Given the description of an element on the screen output the (x, y) to click on. 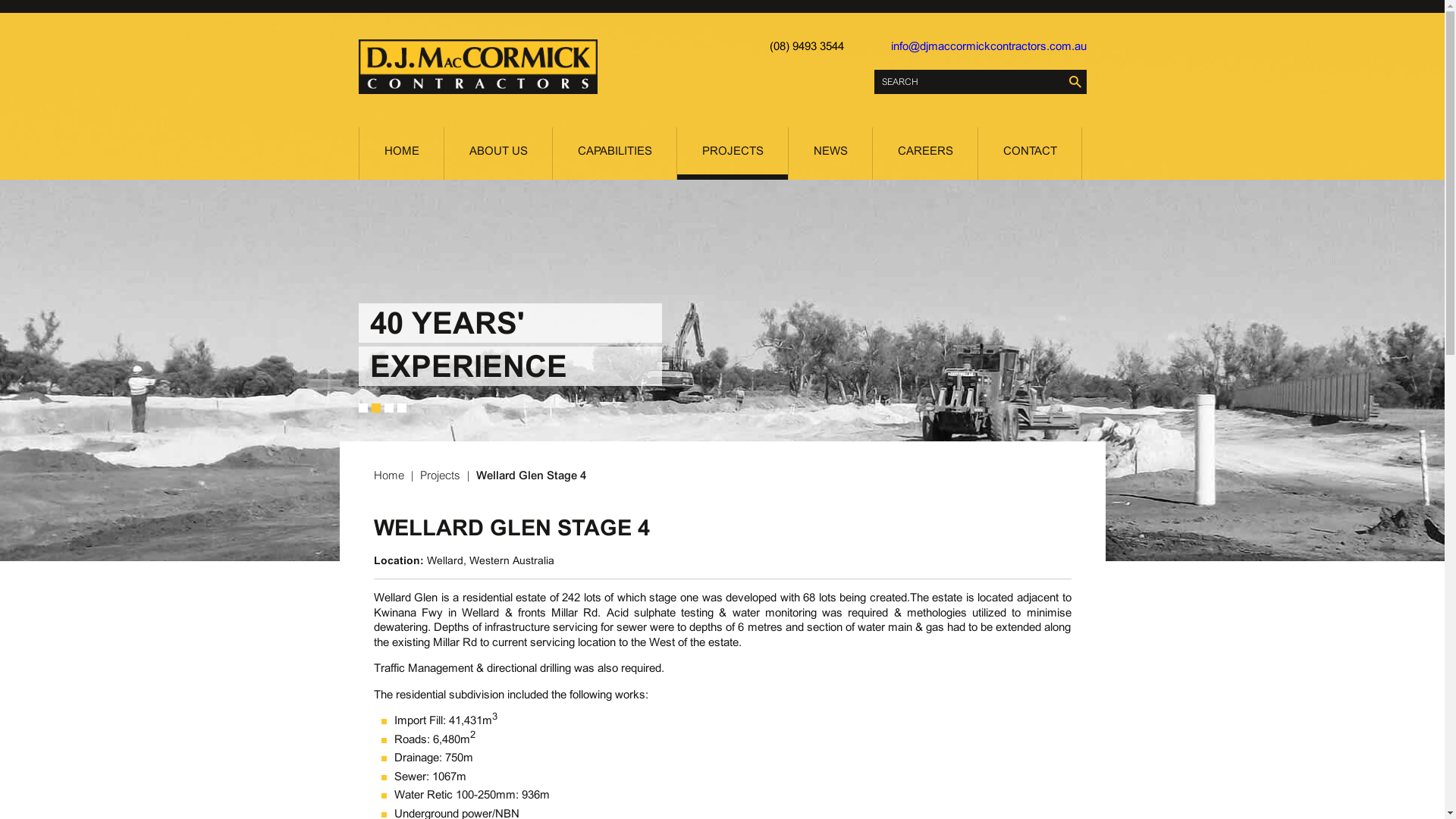
Home Element type: text (390, 474)
ABOUT US Element type: text (498, 153)
CAREERS Element type: text (924, 153)
info@djmaccormickcontractors.com.au Element type: text (987, 46)
CONTACT Element type: text (1029, 153)
HOME Element type: text (401, 153)
PROJECTS Element type: text (731, 153)
(08) 9493 3544 Element type: text (805, 46)
Projects Element type: text (439, 474)
NEWS Element type: text (830, 153)
CAPABILITIES Element type: text (613, 153)
